Given the description of an element on the screen output the (x, y) to click on. 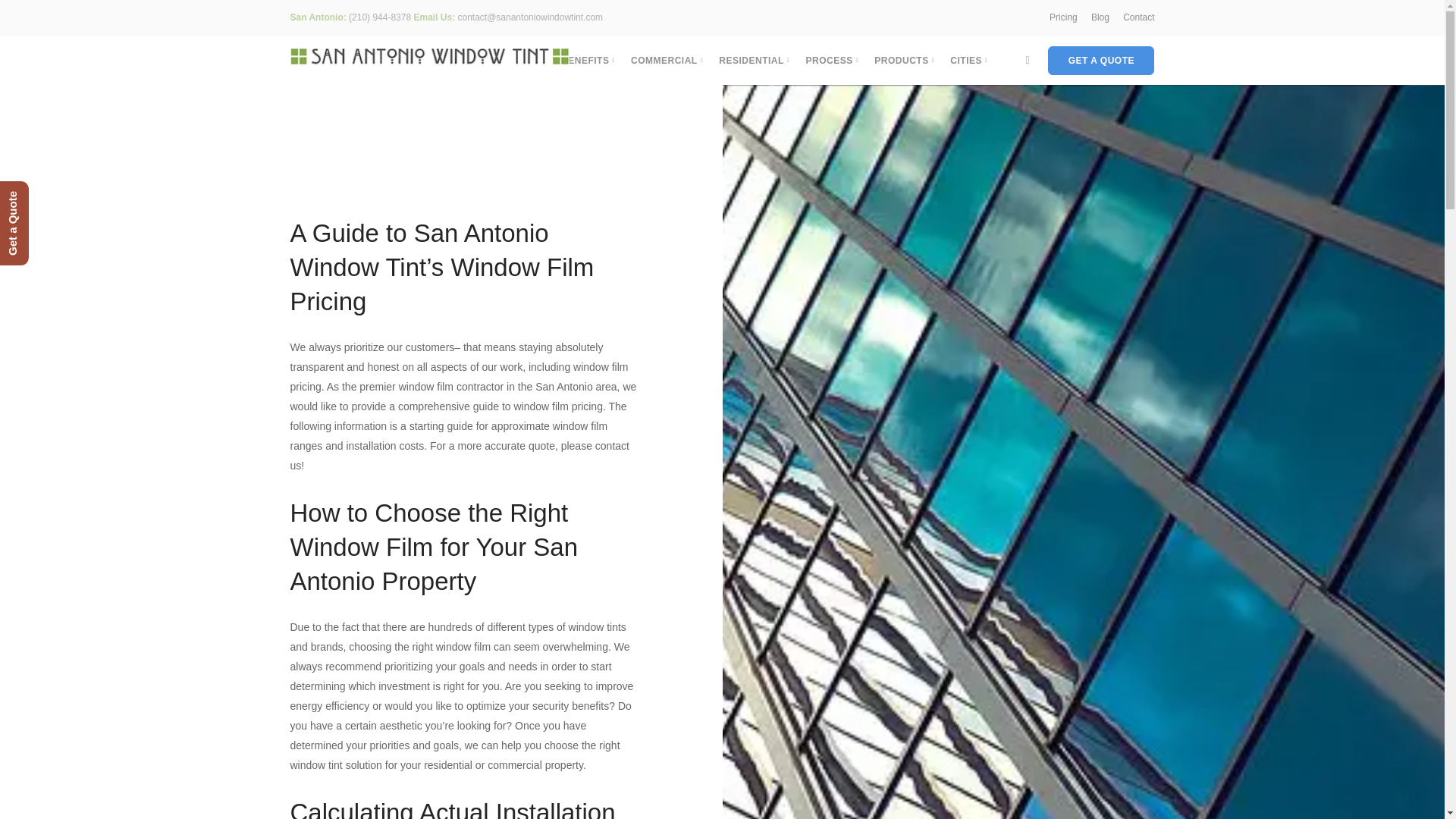
Pricing (1063, 17)
Contact (1138, 17)
RESIDENTIAL (754, 60)
PROCESS (832, 60)
PRODUCTS (904, 60)
COMMERCIAL (666, 60)
San Antonio Window Tint Blog (1099, 17)
BENEFITS (587, 60)
Blog (1099, 17)
